Given the description of an element on the screen output the (x, y) to click on. 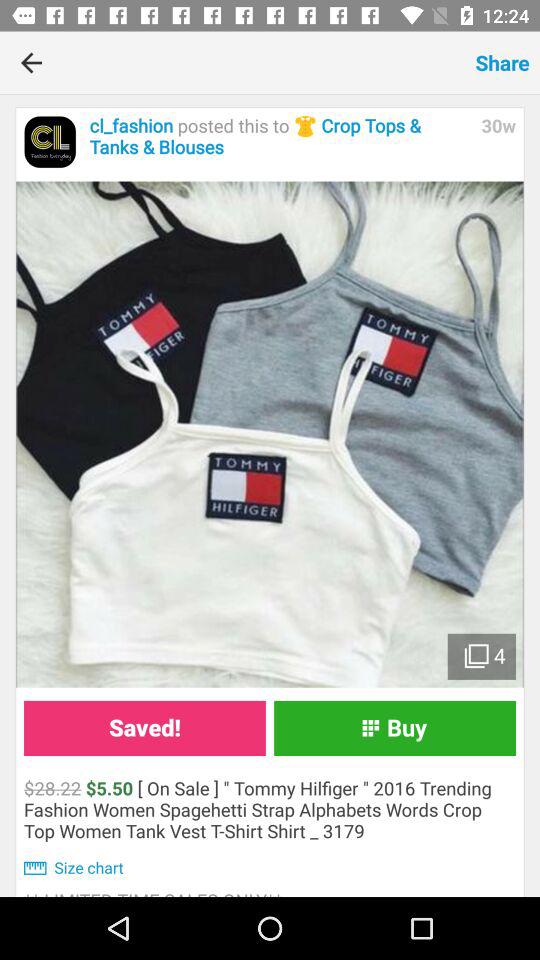
press cl_fashion posted this (280, 136)
